Given the description of an element on the screen output the (x, y) to click on. 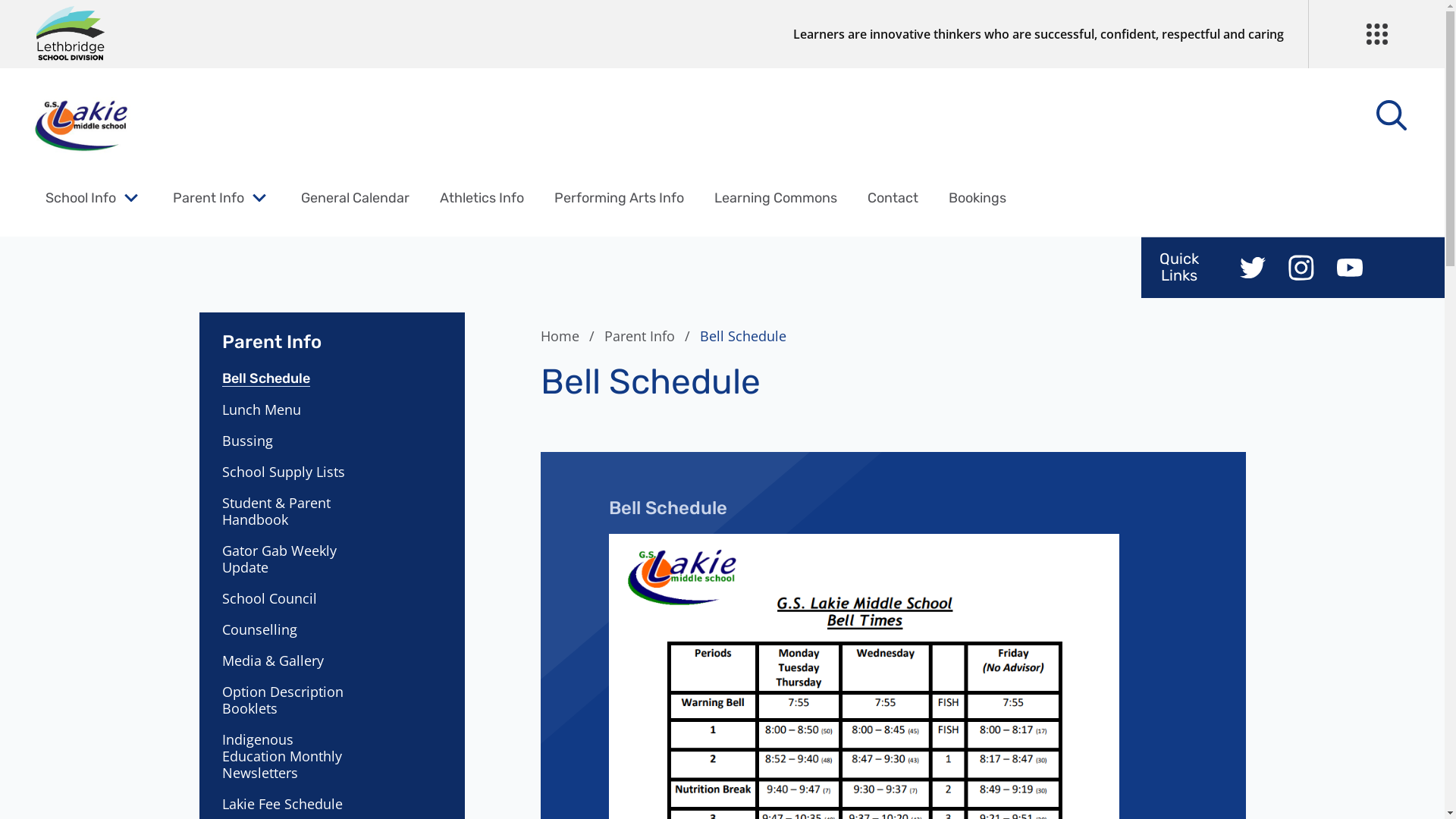
Lunch Menu Element type: text (287, 409)
School Council Element type: text (287, 597)
Quick Links Element type: text (1179, 267)
Learning Commons Element type: text (775, 197)
School Supply Lists Element type: text (287, 471)
Parent Info Element type: text (331, 332)
Athletics Info Element type: text (481, 197)
Parent Info Element type: text (649, 335)
Bell Schedule Element type: text (287, 378)
G.S. Lakie Middle School's Twitter Element type: hover (1252, 267)
General Calendar Element type: text (355, 197)
Indigenous Education Monthly Newsletters Element type: text (287, 755)
Search Element type: text (45, 19)
Parent Info Element type: text (208, 197)
Contact Element type: text (892, 197)
Performing Arts Info Element type: text (619, 197)
School Info Element type: text (80, 197)
Counselling Element type: text (287, 629)
home Element type: hover (80, 125)
Bussing Element type: text (287, 440)
G.S. Lakie Middle School's Instagram Element type: hover (1301, 267)
Lakie Fee Schedule Element type: text (287, 803)
Student & Parent Handbook Element type: text (287, 511)
Media & Gallery Element type: text (287, 660)
Gator Gab Weekly Update Element type: text (287, 558)
Home Element type: text (569, 335)
G.S. Lakie Middle School's YouTube Element type: hover (1349, 267)
Option Description Booklets Element type: text (287, 699)
Bookings Element type: text (977, 197)
